Given the description of an element on the screen output the (x, y) to click on. 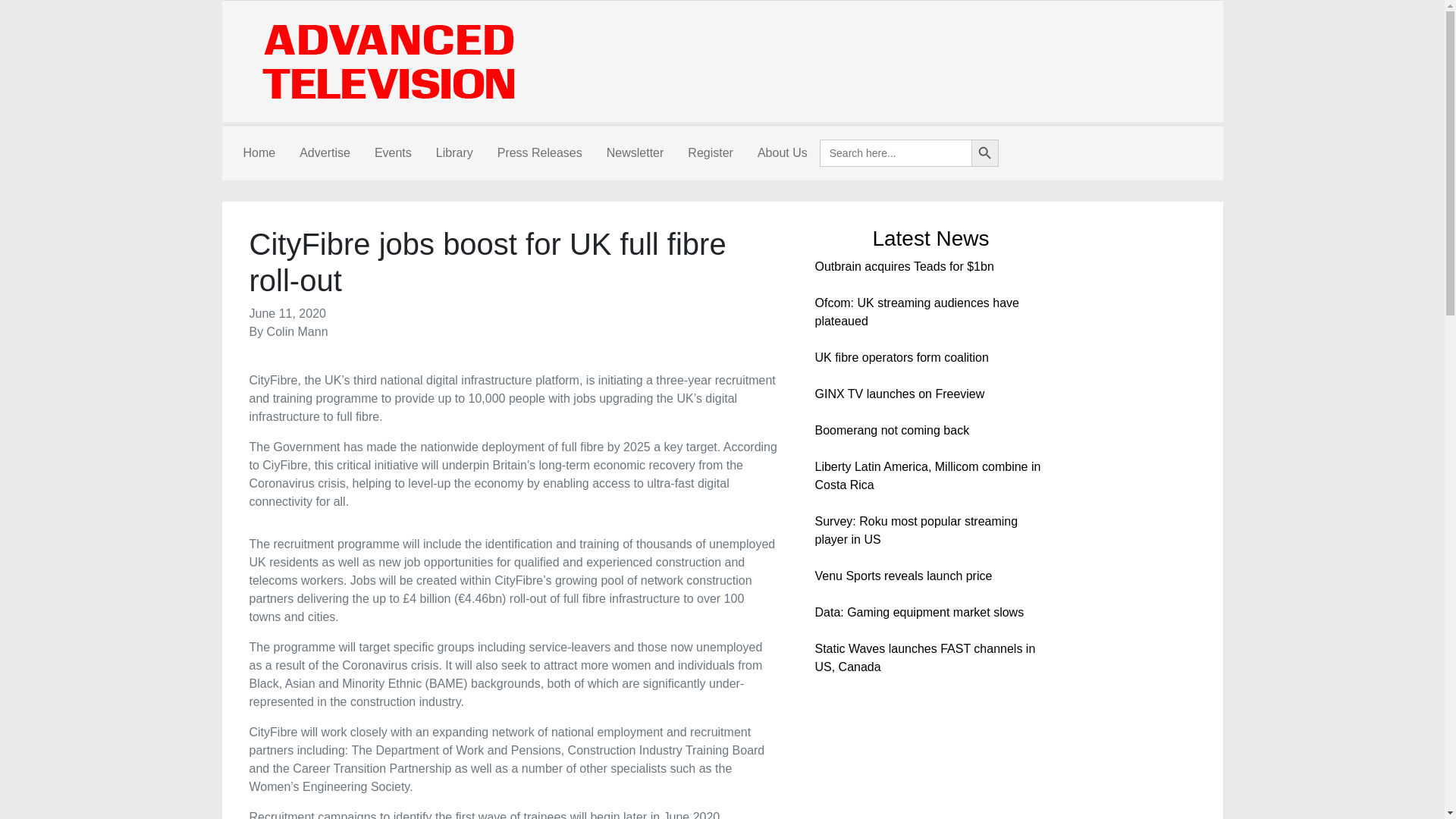
Search Button (984, 153)
Home (258, 153)
Library (453, 153)
Events (392, 153)
GINX TV launches on Freeview (898, 393)
Boomerang not coming back (891, 430)
Register (710, 153)
Newsletter (635, 153)
UK fibre operators form coalition (900, 357)
Press Releases (539, 153)
Ofcom: UK streaming audiences have plateaued (915, 311)
About Us (782, 153)
Advertise (324, 153)
